Given the description of an element on the screen output the (x, y) to click on. 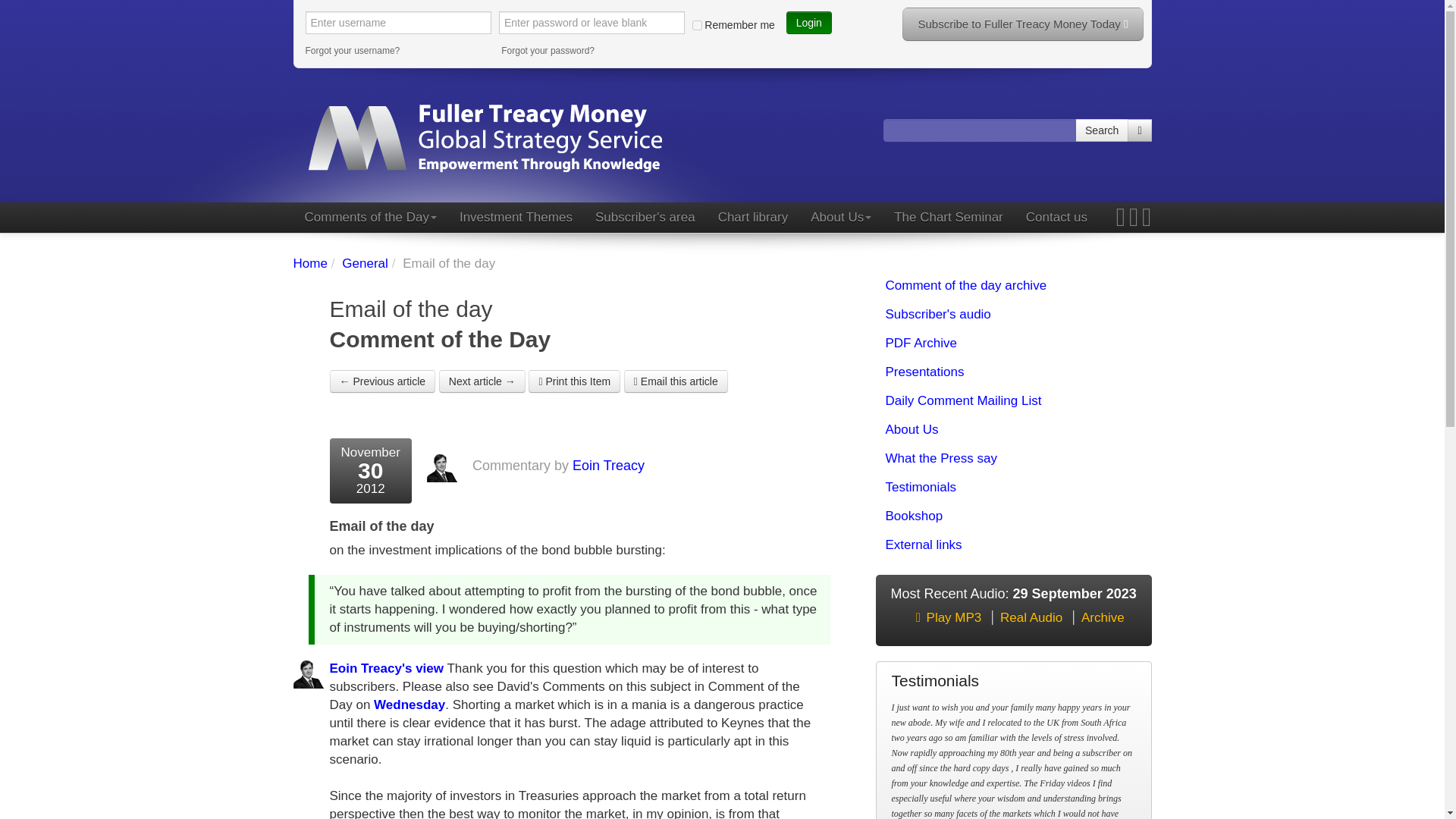
Investment Themes (515, 217)
Forgot your password? (593, 50)
The Chart Seminar (948, 217)
Login (808, 22)
Subscribe to Fuller Treacy Money Today (1022, 23)
Home (309, 263)
General (364, 263)
Contact us (1056, 217)
Forgot your username? (397, 50)
Search (1101, 129)
Email this article (676, 381)
Print this Item (574, 381)
Comments of the Day (369, 217)
Subscriber's area (644, 217)
Eoin Treacy's view (386, 667)
